Given the description of an element on the screen output the (x, y) to click on. 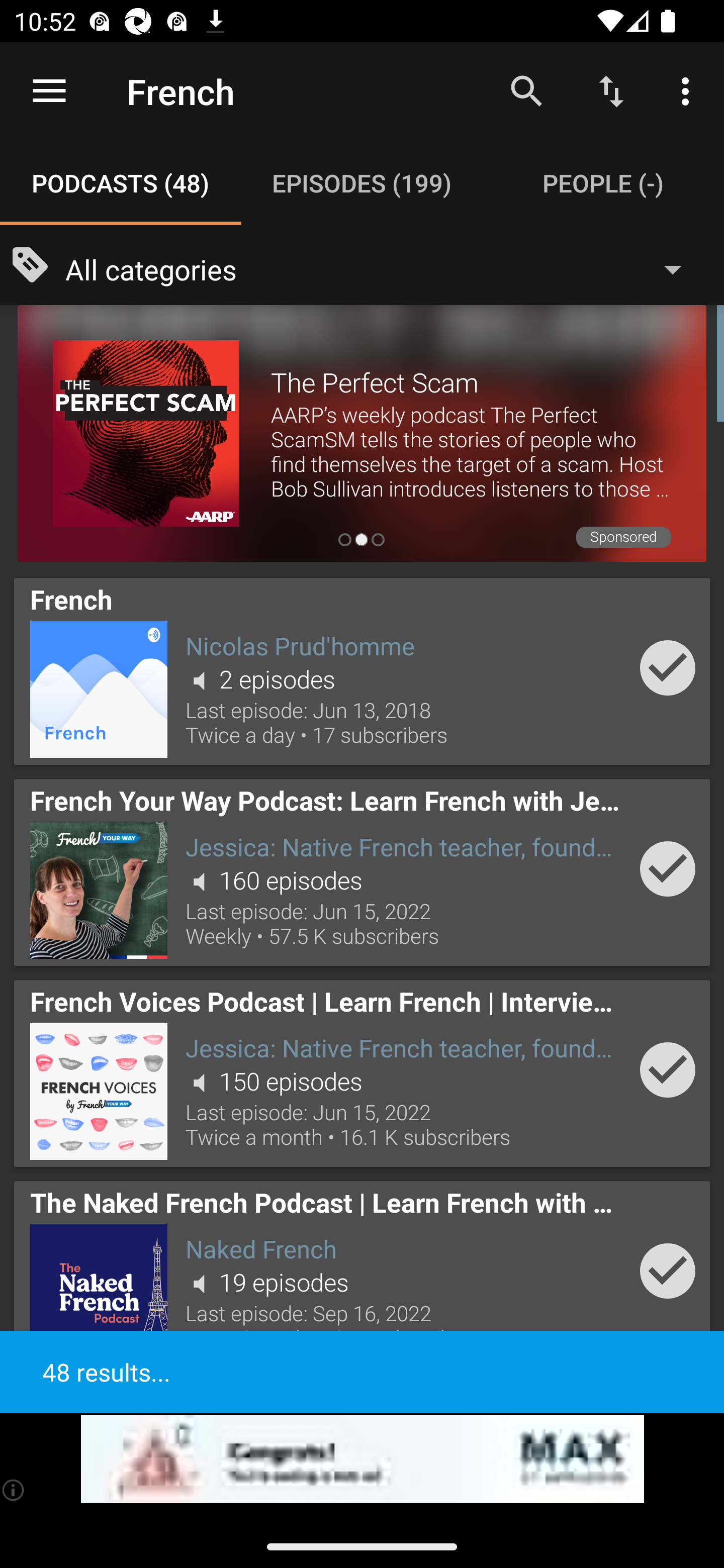
Open navigation sidebar (49, 91)
Search (526, 90)
Sort (611, 90)
More options (688, 90)
Episodes (199) EPISODES (199) (361, 183)
People (-) PEOPLE (-) (603, 183)
All categories (383, 268)
Add (667, 667)
Add (667, 868)
Add (667, 1069)
Add (667, 1271)
app-monetization (362, 1459)
(i) (14, 1489)
